Given the description of an element on the screen output the (x, y) to click on. 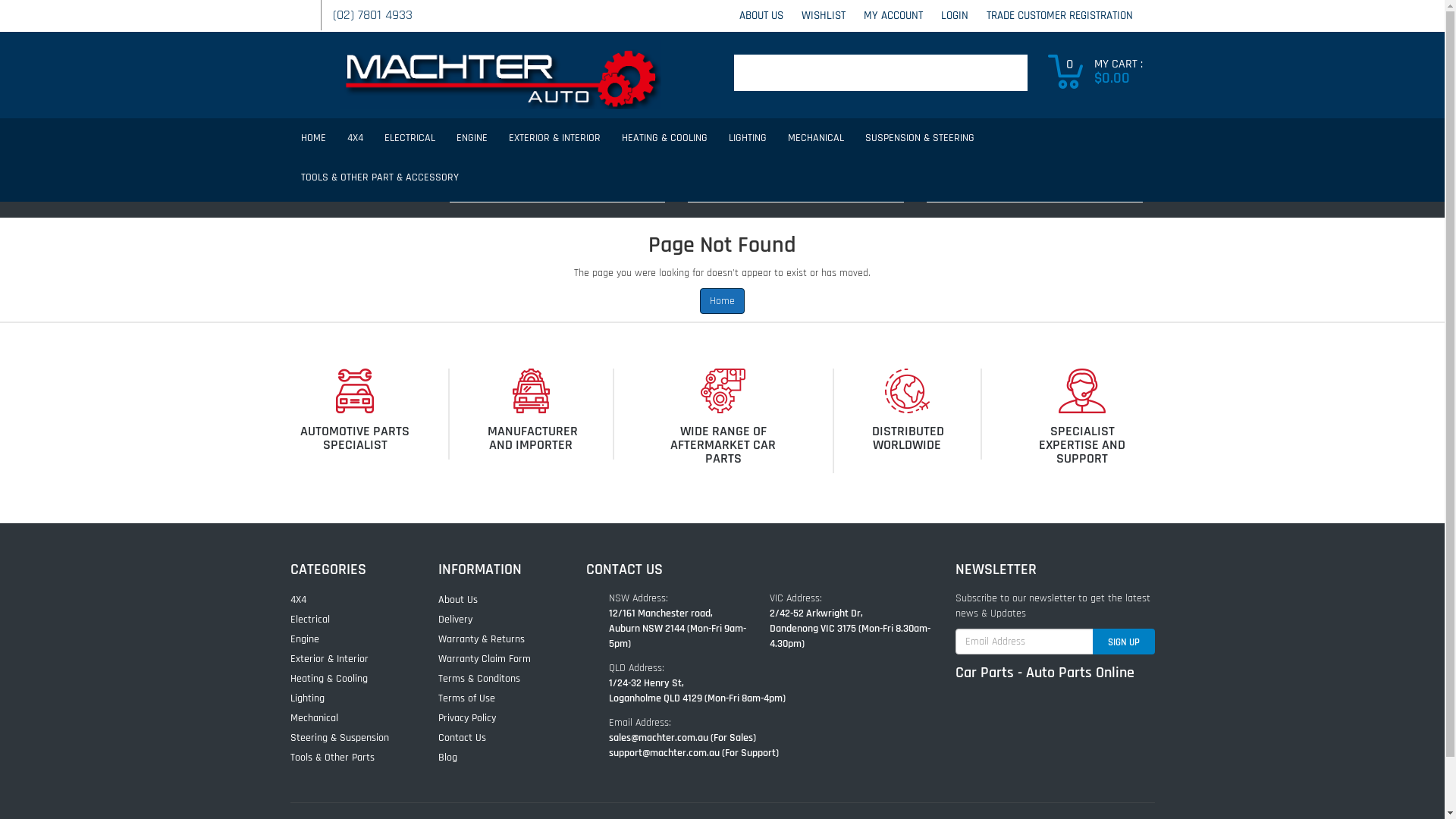
Machter on Youtube Element type: hover (300, 8)
Heating & Cooling Element type: text (347, 678)
Machter on Instagram Element type: hover (308, 8)
Machter on Facebook Element type: hover (293, 8)
Warranty & Returns Element type: text (494, 639)
Contact Us Element type: text (494, 737)
Sign up Element type: text (1123, 641)
LIGHTING Element type: text (746, 137)
Machter Element type: hover (499, 74)
WISHLIST Element type: text (822, 15)
TOOLS & OTHER PART & ACCESSORY Element type: text (378, 177)
HEATING & COOLING Element type: text (664, 137)
Terms of Use Element type: text (494, 698)
HOME Element type: text (312, 137)
Warranty Claim Form Element type: text (494, 658)
Engine Element type: text (347, 639)
Privacy Policy Element type: text (494, 718)
About Us Element type: text (494, 599)
MY ACCOUNT Element type: text (892, 15)
support@machter.com.au (For Support) Element type: text (693, 752)
ABOUT US Element type: text (760, 15)
MECHANICAL Element type: text (814, 137)
Home Element type: text (721, 300)
Delivery Element type: text (494, 619)
Exterior & Interior Element type: text (347, 658)
Terms & Conditons Element type: text (494, 678)
4X4 Element type: text (347, 599)
4X4 Element type: text (354, 137)
ELECTRICAL Element type: text (409, 137)
Tools & Other Parts Element type: text (347, 757)
Electrical Element type: text (347, 619)
ENGINE Element type: text (471, 137)
Blog Element type: text (494, 757)
EXTERIOR & INTERIOR Element type: text (553, 137)
TRADE CUSTOMER REGISTRATION Element type: text (1058, 15)
MY CART :
0
$0.00 Element type: text (1101, 71)
SUSPENSION & STEERING Element type: text (918, 137)
(02) 7801 4933 Element type: text (371, 15)
Mechanical Element type: text (347, 718)
sales@machter.com.au (For Sales) Element type: text (681, 737)
Lighting Element type: text (347, 698)
Steering & Suspension Element type: text (347, 737)
LOGIN Element type: text (953, 15)
